Given the description of an element on the screen output the (x, y) to click on. 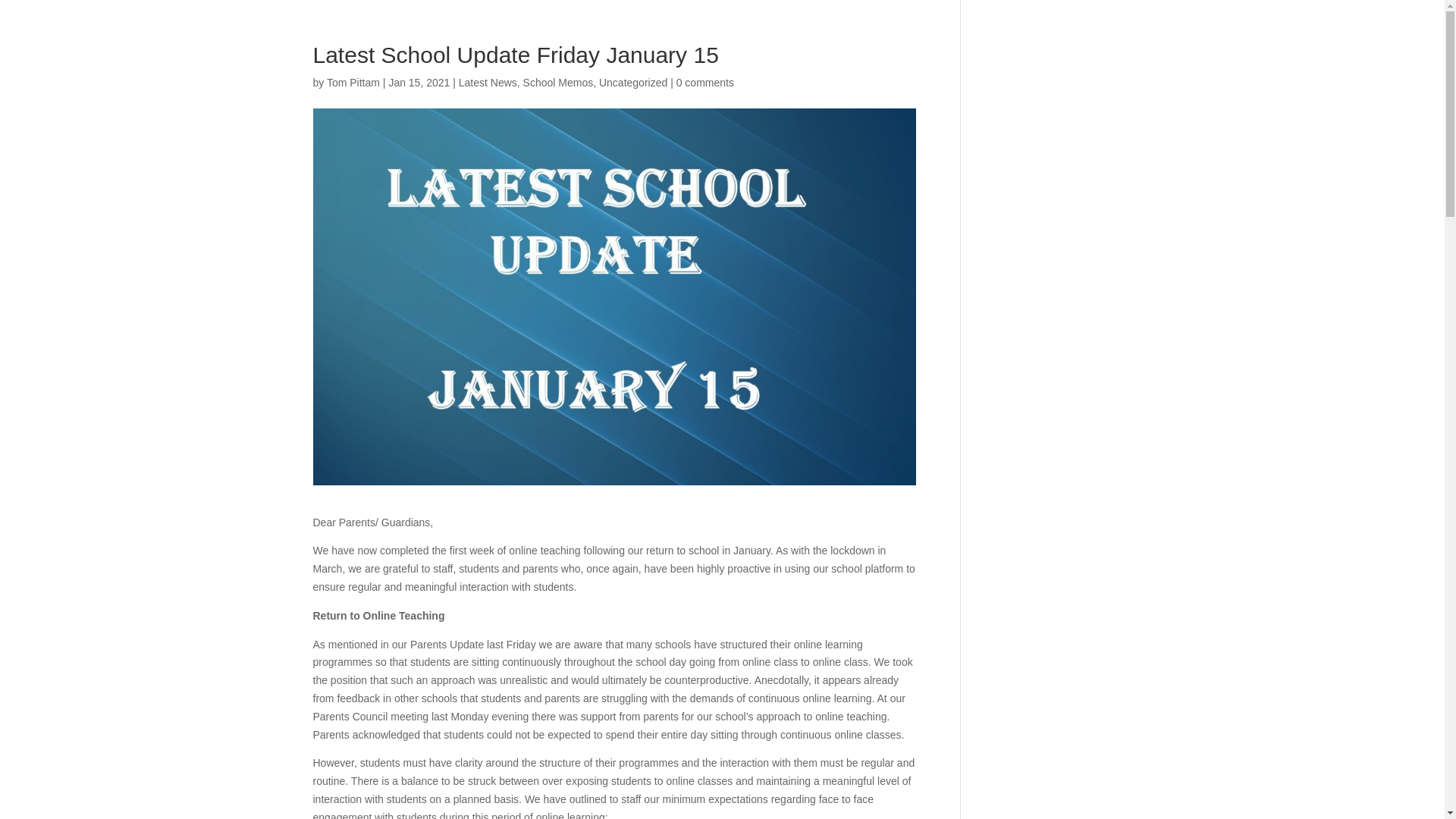
Posts by Tom Pittam (353, 82)
